Given the description of an element on the screen output the (x, y) to click on. 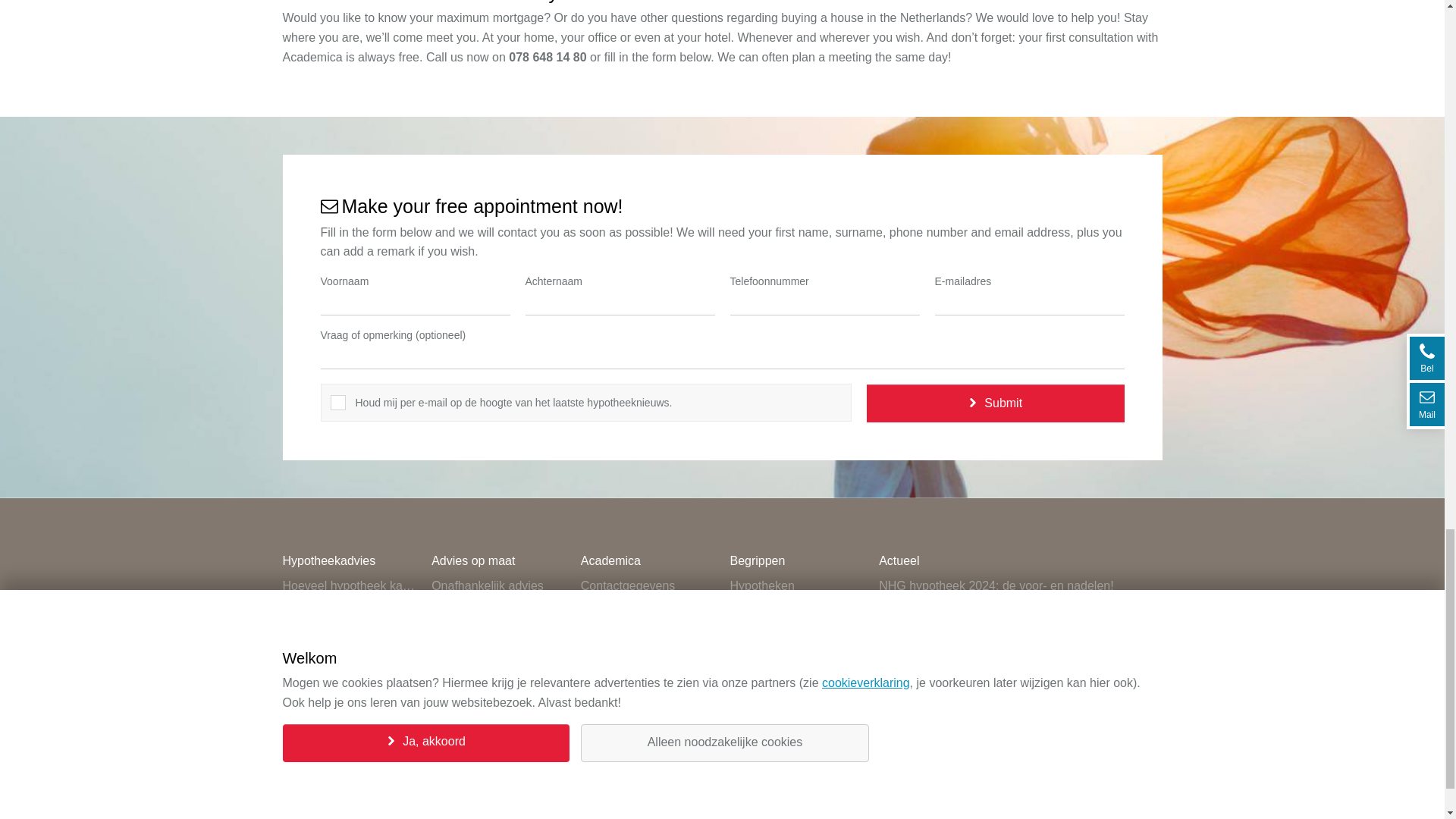
Over Academica (647, 610)
Nieuwbouw hypotheek (498, 731)
Hoeveel hypotheek kan ik krijgen? (349, 586)
Contactgegevens (647, 586)
Eerste woning kopen (349, 658)
Aflossingsvrije hypotheek (498, 707)
Onafhankelijk advies (498, 586)
Documenten (647, 634)
ZZP hypotheek (498, 634)
Word aflossingsblij (498, 755)
Hypotheken (349, 610)
Hypotheek oversluiten (349, 707)
Vacatures (647, 682)
Startershypotheek (498, 610)
Verzekeringen (647, 658)
